Given the description of an element on the screen output the (x, y) to click on. 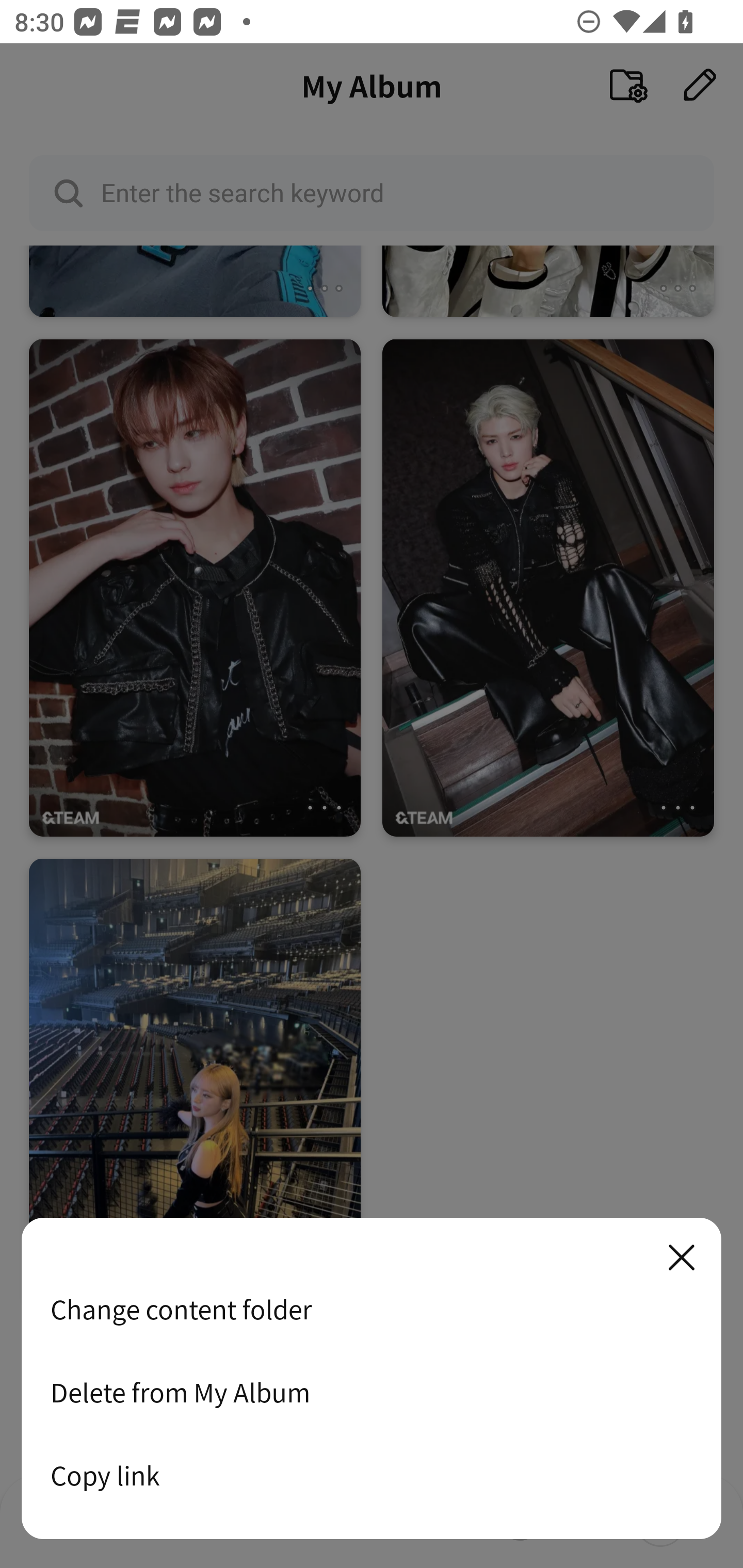
Change content folder (371, 1308)
Delete from My Album (371, 1391)
Copy link (371, 1474)
